Given the description of an element on the screen output the (x, y) to click on. 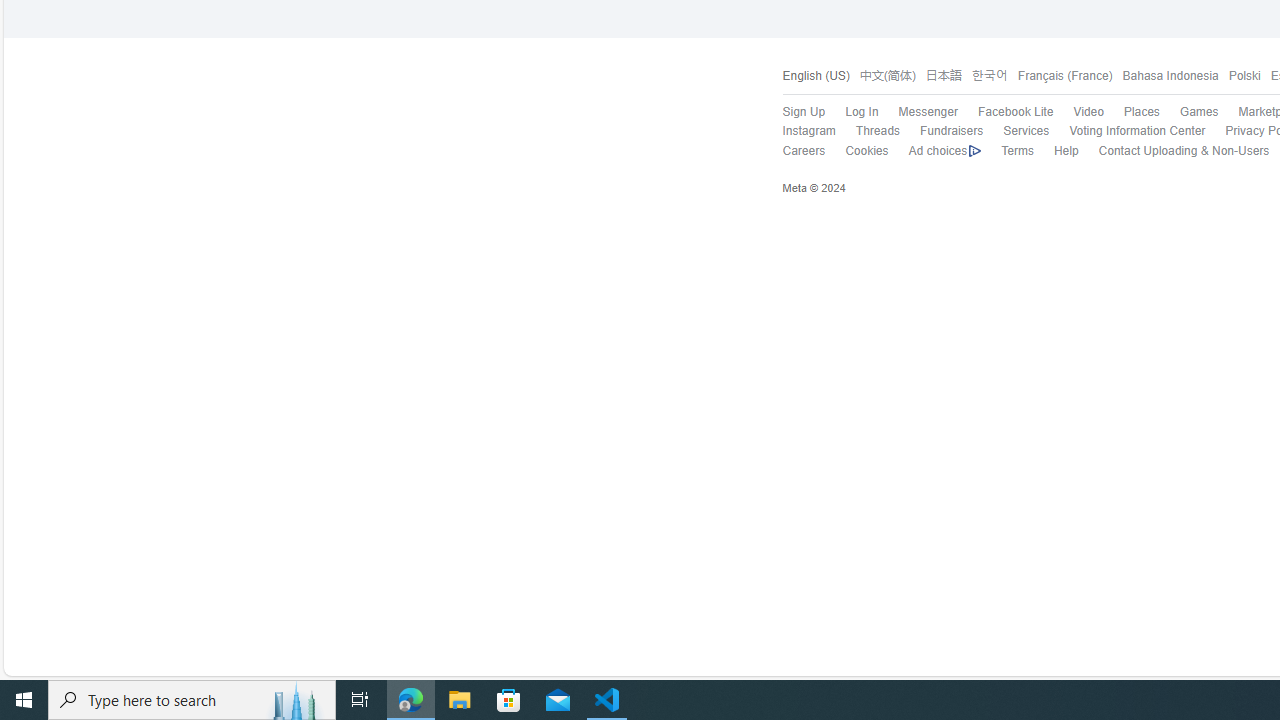
Log In (852, 112)
Ad choices (944, 151)
Bahasa Indonesia (1170, 76)
Video (1087, 112)
Services (1016, 131)
Terms (1007, 151)
Bahasa Indonesia (1165, 75)
Facebook Lite (1014, 112)
Threads (866, 131)
Instagram (808, 130)
Voting Information Center (1127, 131)
Careers (793, 151)
Video (1078, 112)
